Given the description of an element on the screen output the (x, y) to click on. 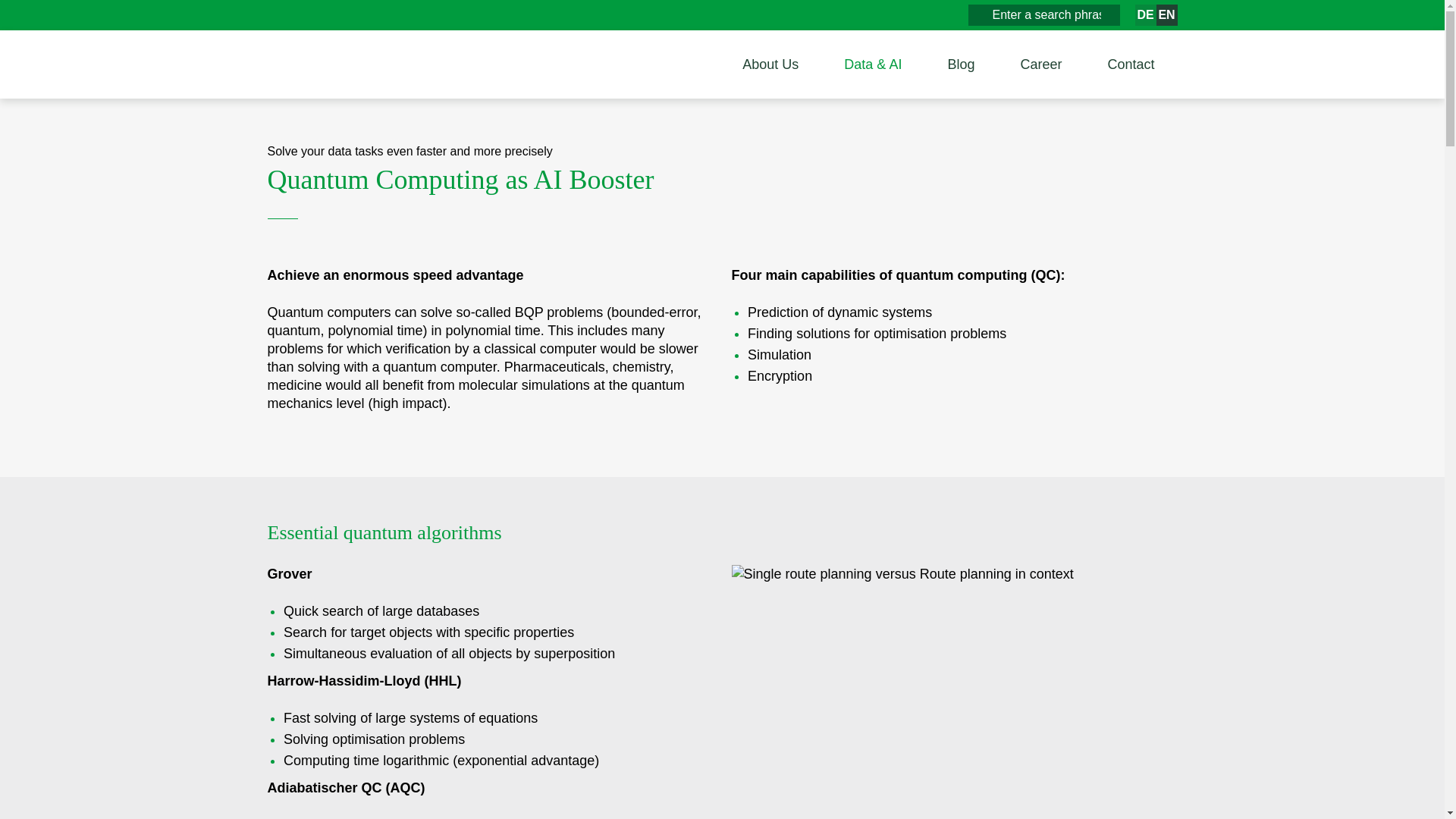
DE (1145, 14)
About Us (770, 64)
Career (1040, 64)
Blog (960, 64)
About Us (770, 64)
Quantum Computing (1145, 14)
